Given the description of an element on the screen output the (x, y) to click on. 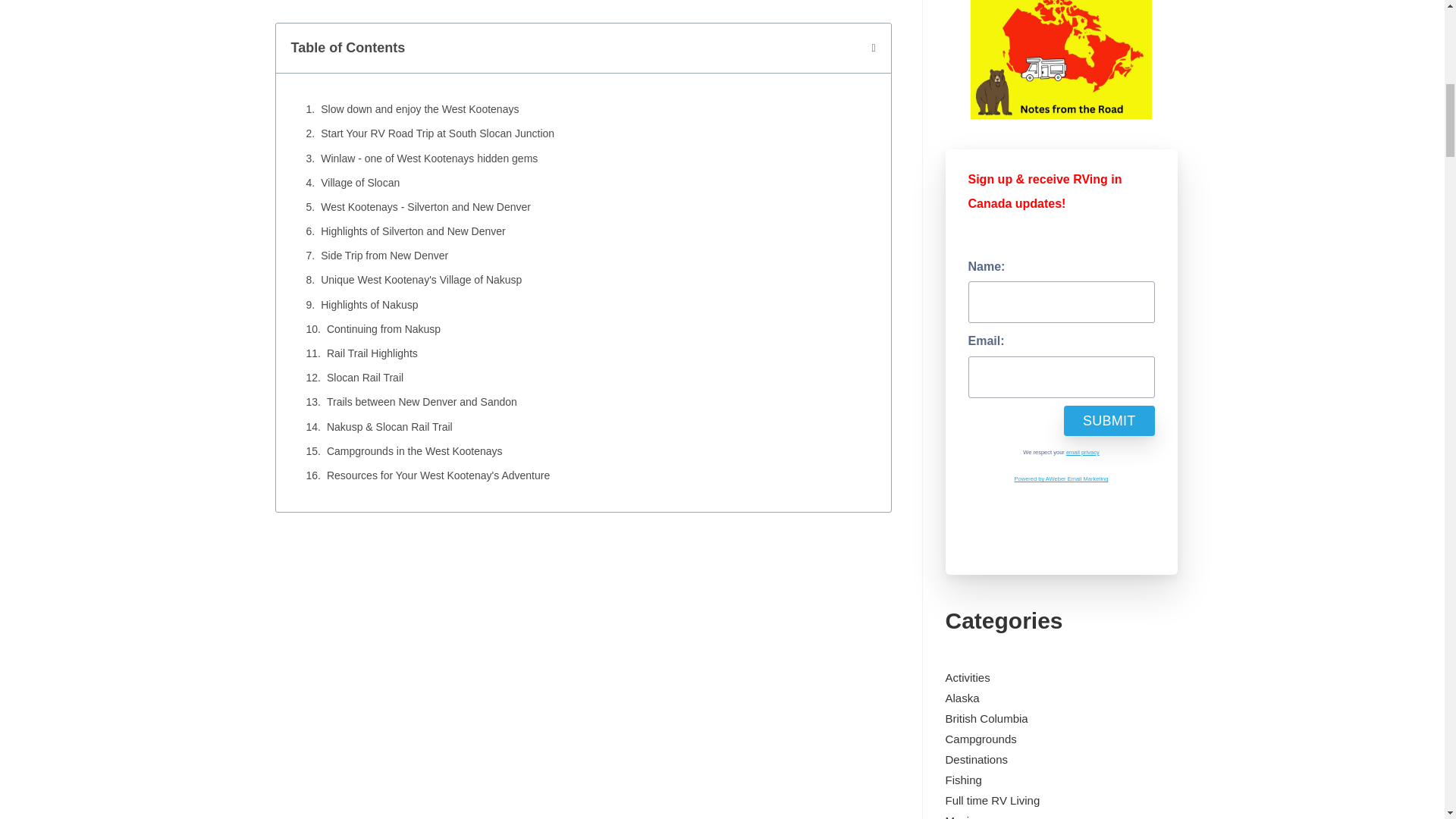
Winlaw - one of West Kootenays hidden gems (428, 158)
Continuing from Nakusp (383, 329)
Slow down and enjoy the West Kootenays (419, 108)
Privacy Policy (1082, 451)
West Kootenays - Silverton and New Denver (425, 207)
Start Your RV Road Trip at South Slocan Junction (437, 133)
AWeber Email Marketing (1061, 478)
Side Trip from New Denver (384, 255)
Village of Slocan (359, 182)
Highlights of Silverton and New Denver (412, 230)
Highlights of Nakusp (368, 304)
Submit (1109, 420)
Unique West Kootenay's Village of Nakusp (420, 280)
